Given the description of an element on the screen output the (x, y) to click on. 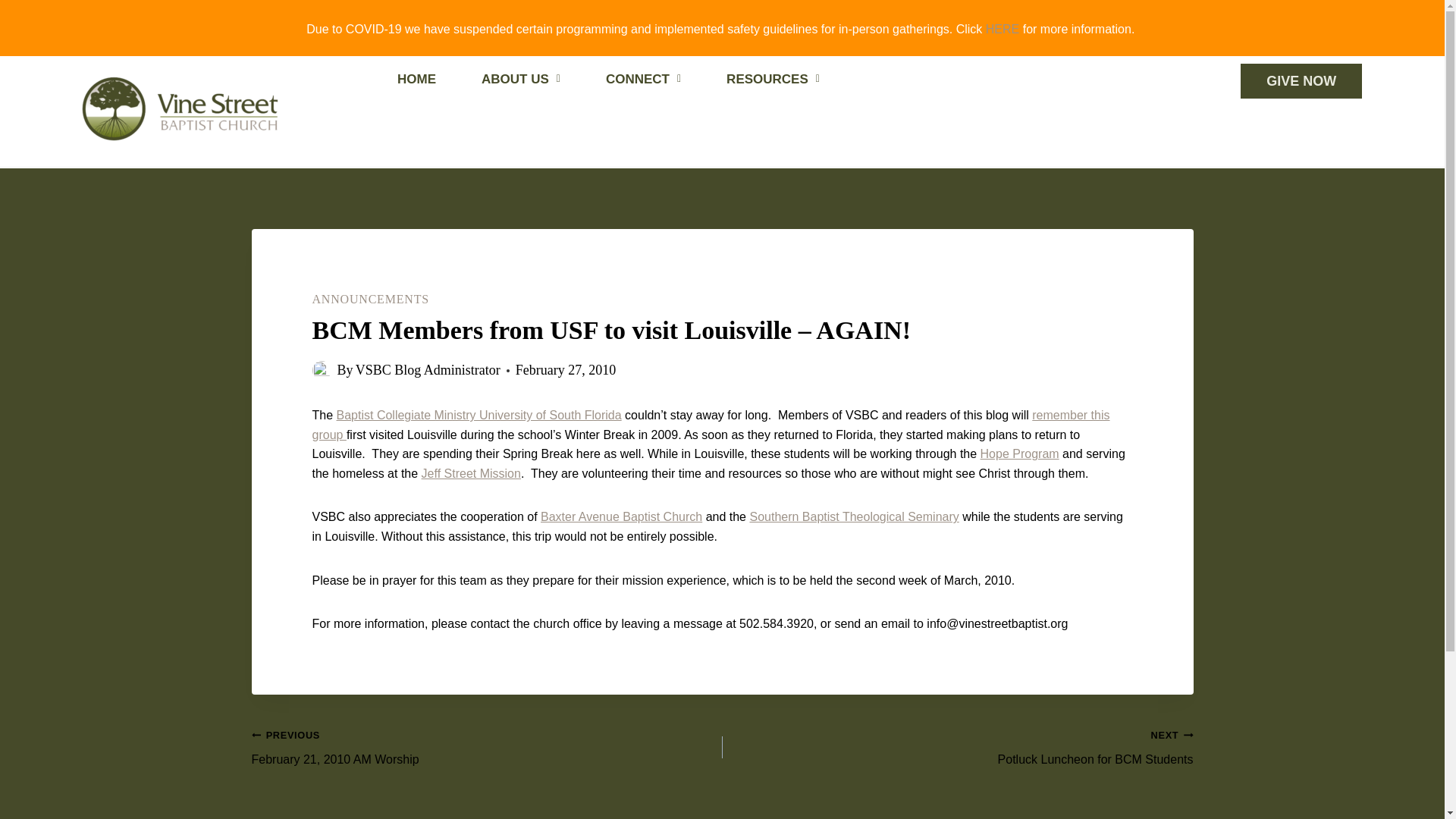
Baptist Collegiate Ministry University of South Florida (478, 414)
HERE (1002, 29)
VSBC Blog Administrator (427, 369)
Southern Baptist Theological Seminary (853, 516)
Baxter Avenue Baptist Church (486, 746)
ANNOUNCEMENTS (620, 516)
remember this group (371, 298)
RESOURCES (711, 424)
ABOUT US (773, 79)
